Given the description of an element on the screen output the (x, y) to click on. 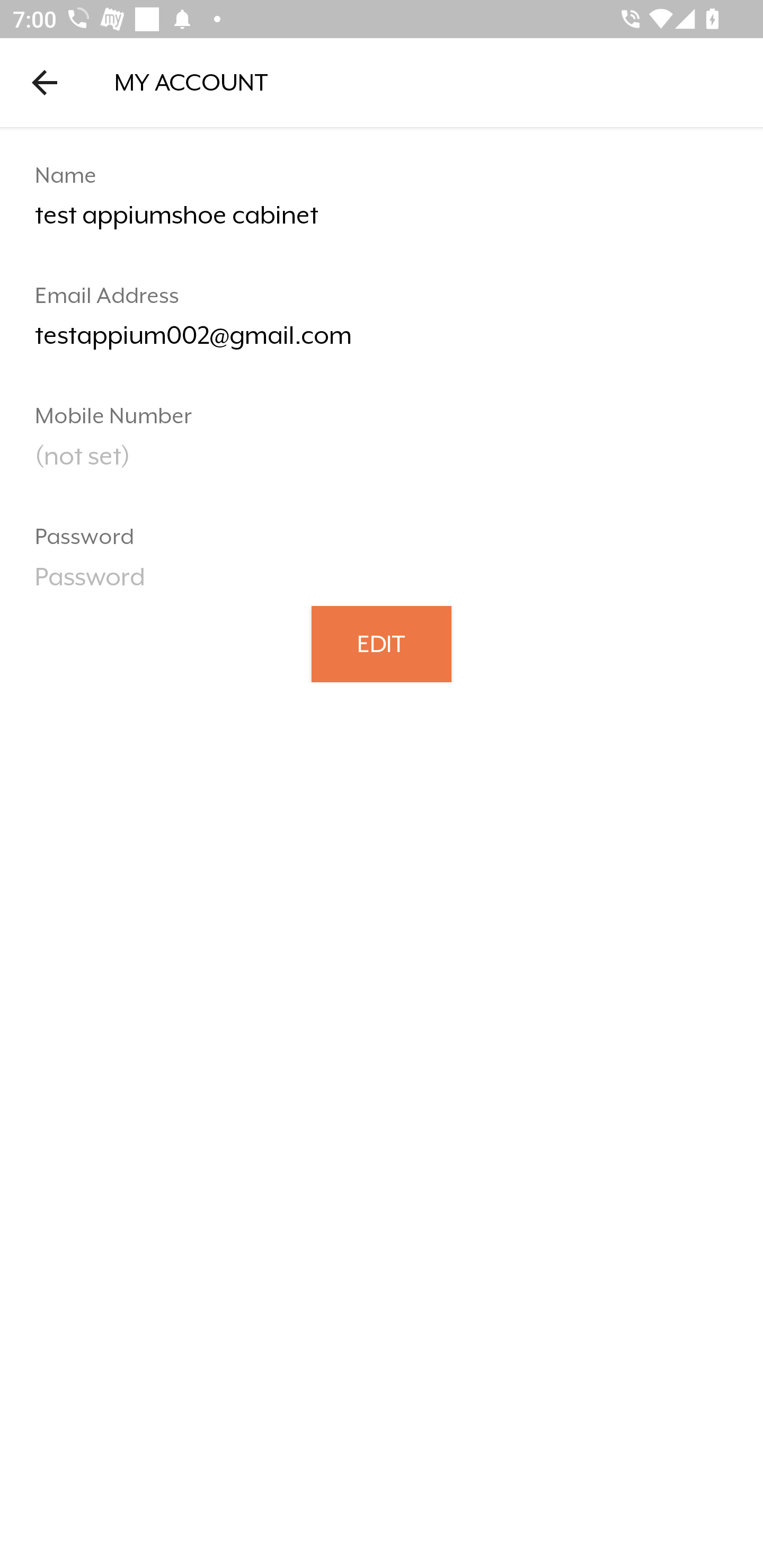
Navigate up (44, 82)
test appiumshoe cabinet (381, 222)
testappium002@gmail.com (381, 342)
Password (381, 583)
EDIT (381, 643)
